Given the description of an element on the screen output the (x, y) to click on. 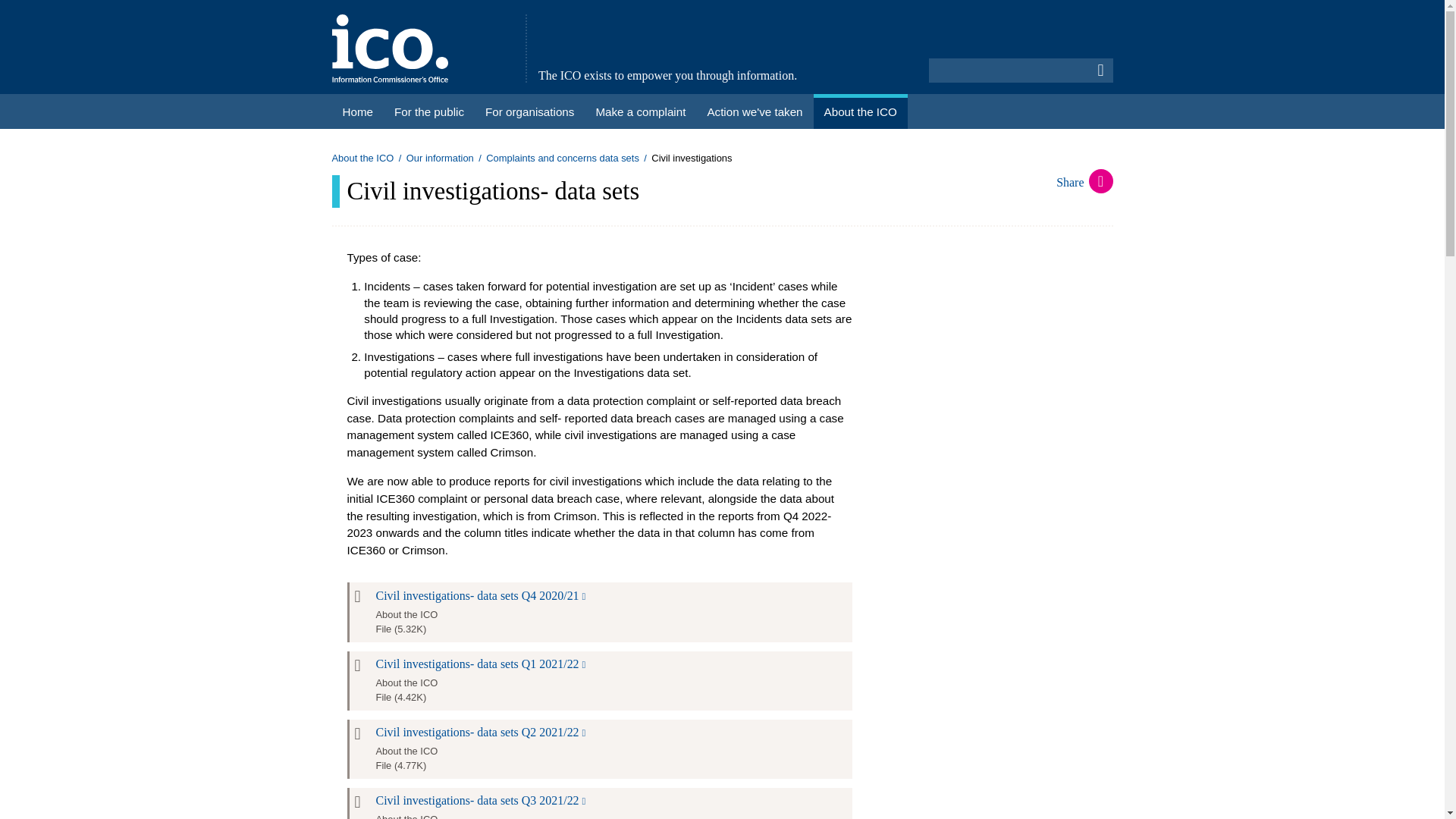
Search (1101, 70)
Make a complaint (640, 110)
About the ICO (362, 158)
Action we've taken (753, 110)
For organisations (529, 110)
Share (1084, 182)
For the public (429, 110)
Home (357, 110)
Our information (440, 158)
Search (1101, 70)
